Given the description of an element on the screen output the (x, y) to click on. 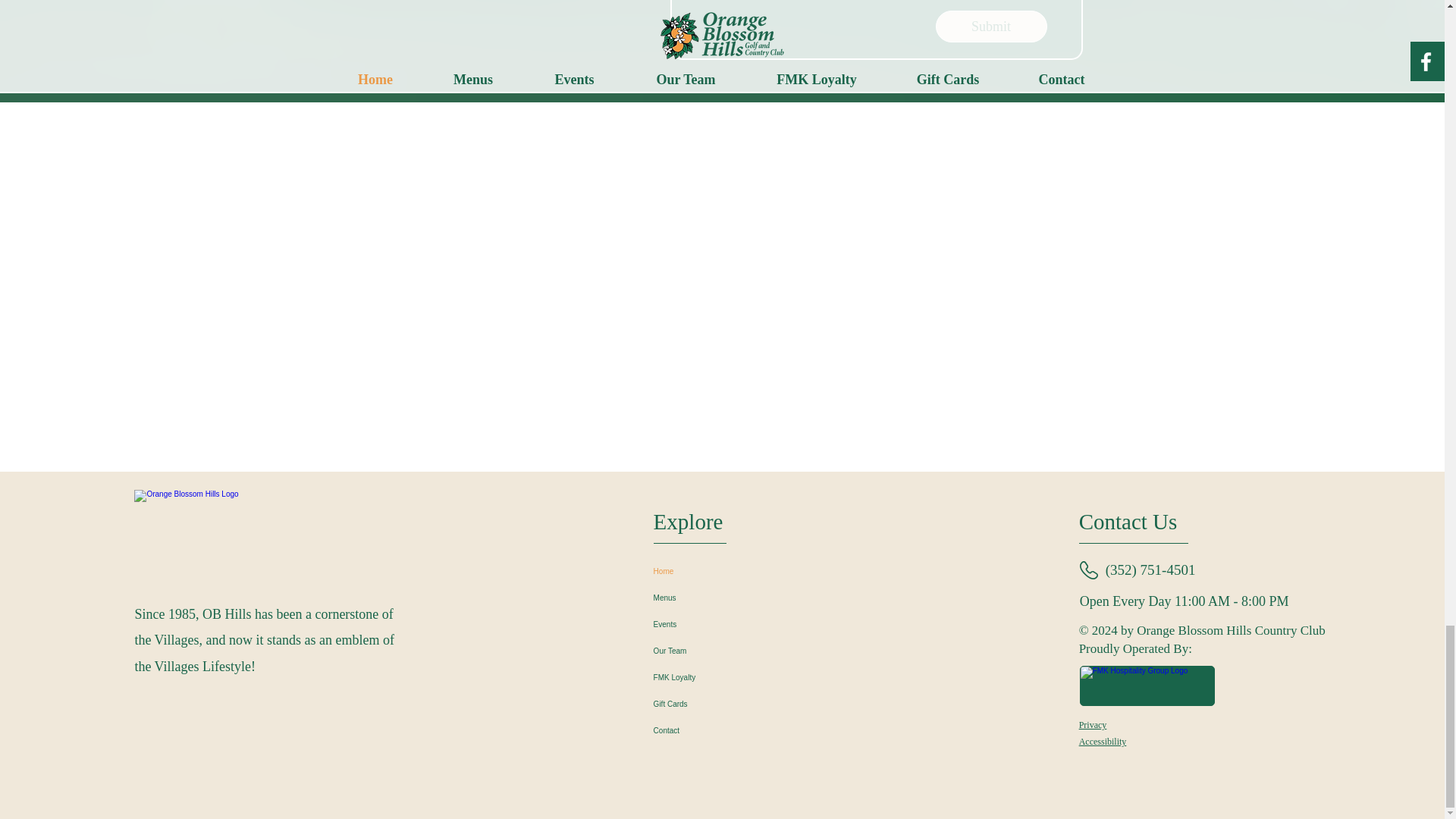
Home (721, 570)
Menus (721, 597)
Submit (991, 26)
